Given the description of an element on the screen output the (x, y) to click on. 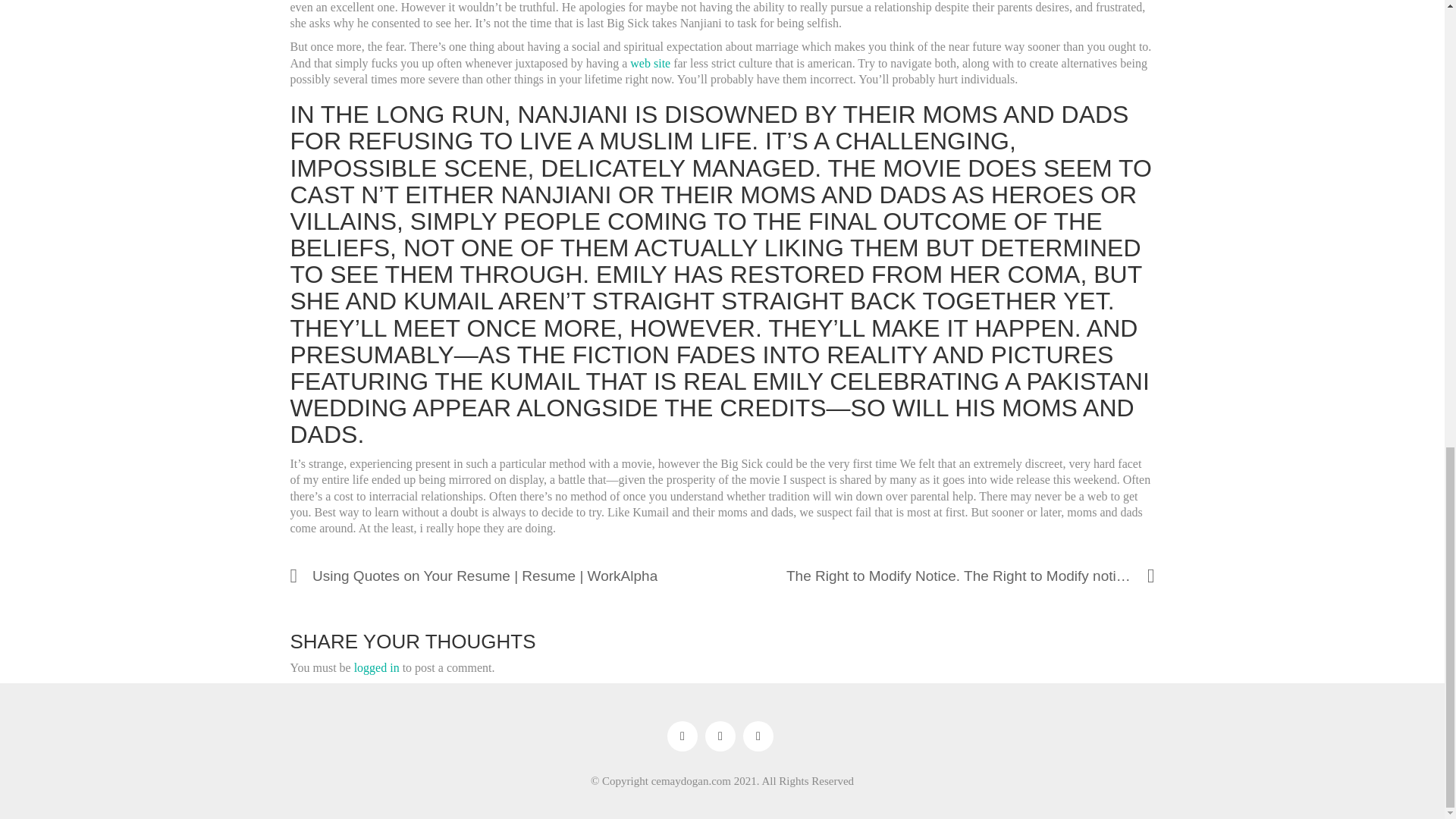
Facebook (681, 735)
Instagram (719, 735)
logged in (375, 667)
LinkedIn (757, 735)
web site (649, 62)
